Given the description of an element on the screen output the (x, y) to click on. 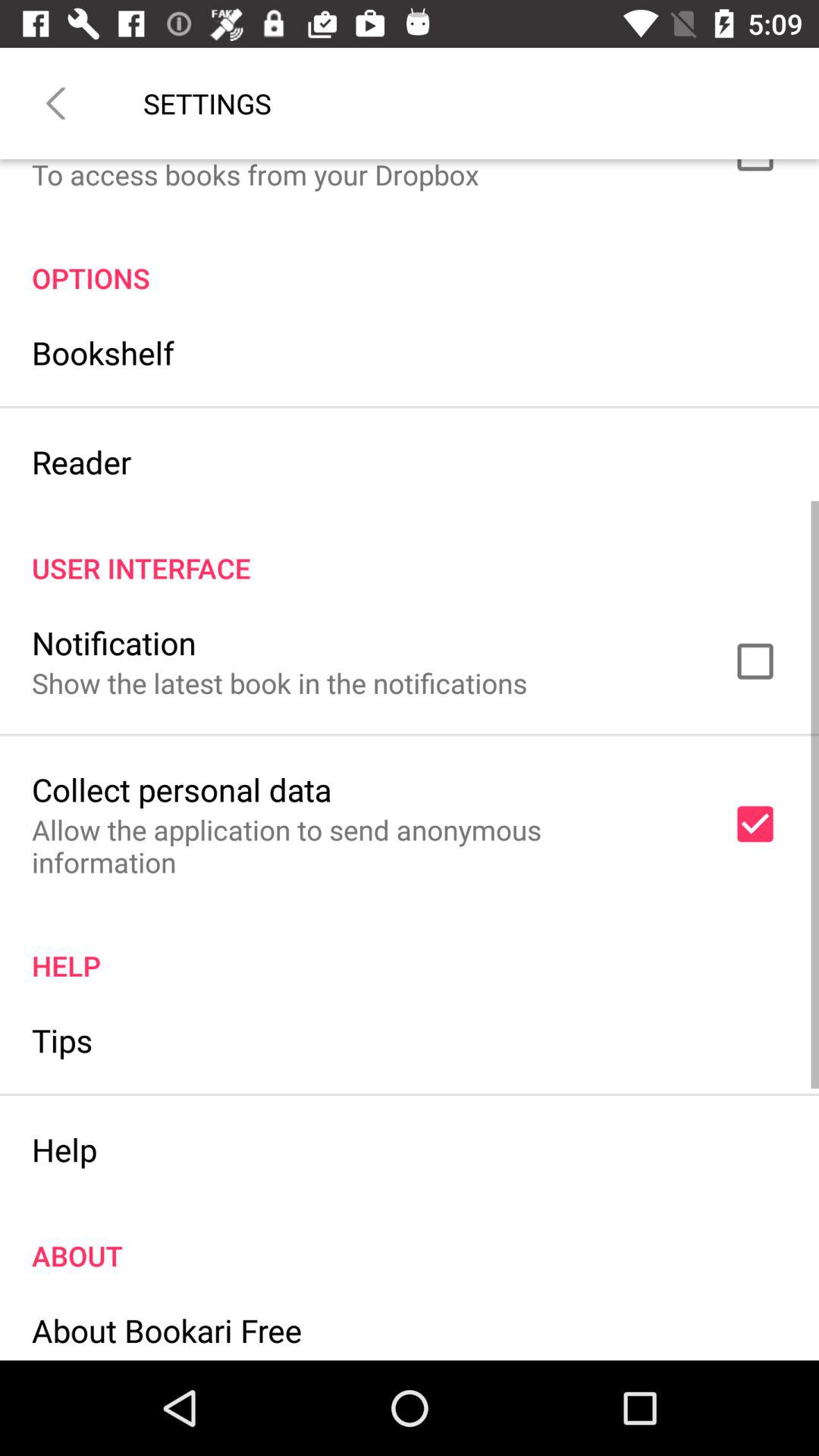
select the options (409, 261)
